Given the description of an element on the screen output the (x, y) to click on. 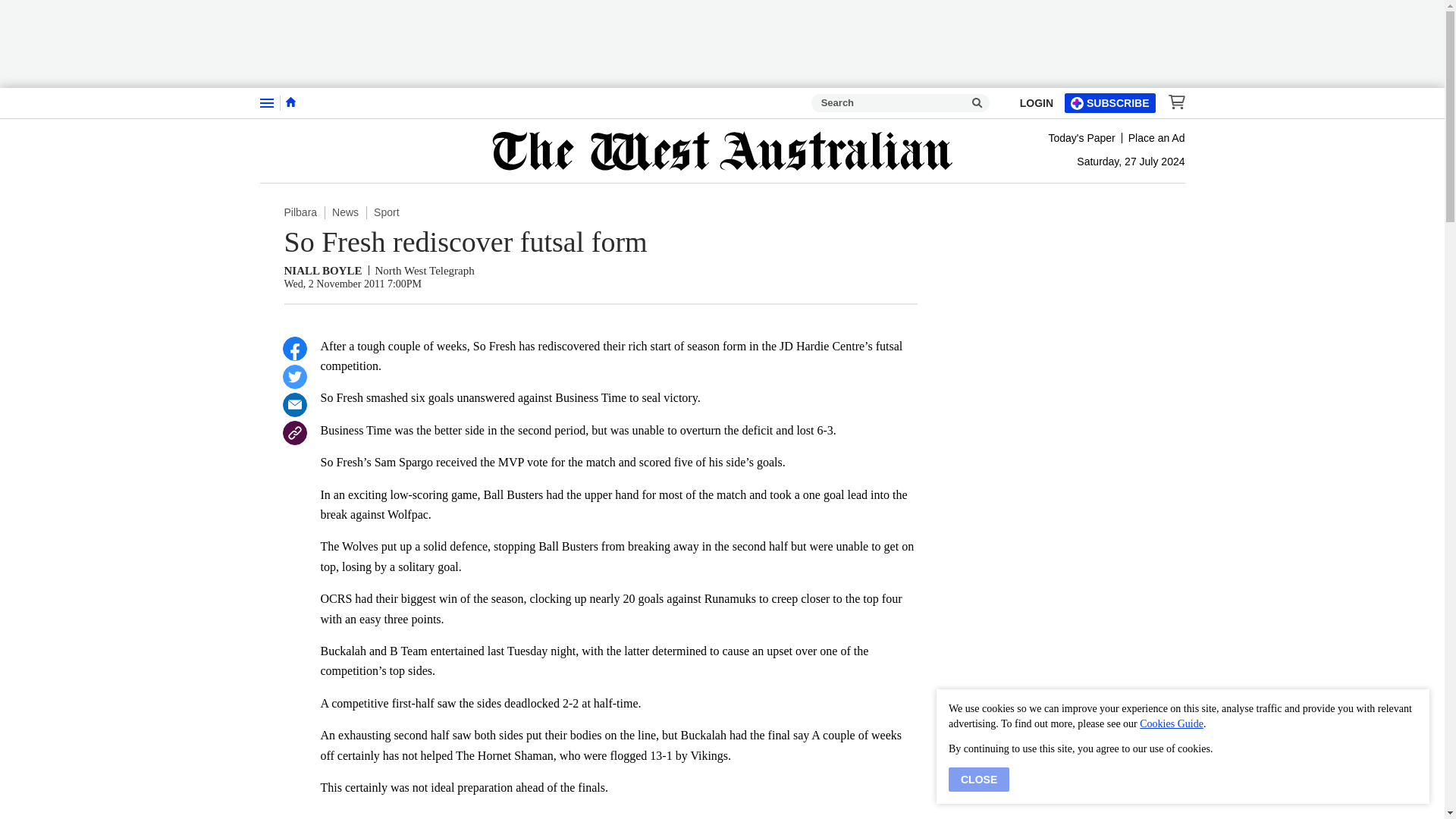
Please enter a search term. (977, 102)
Empty Cart Icon (1172, 102)
Home (290, 102)
